Given the description of an element on the screen output the (x, y) to click on. 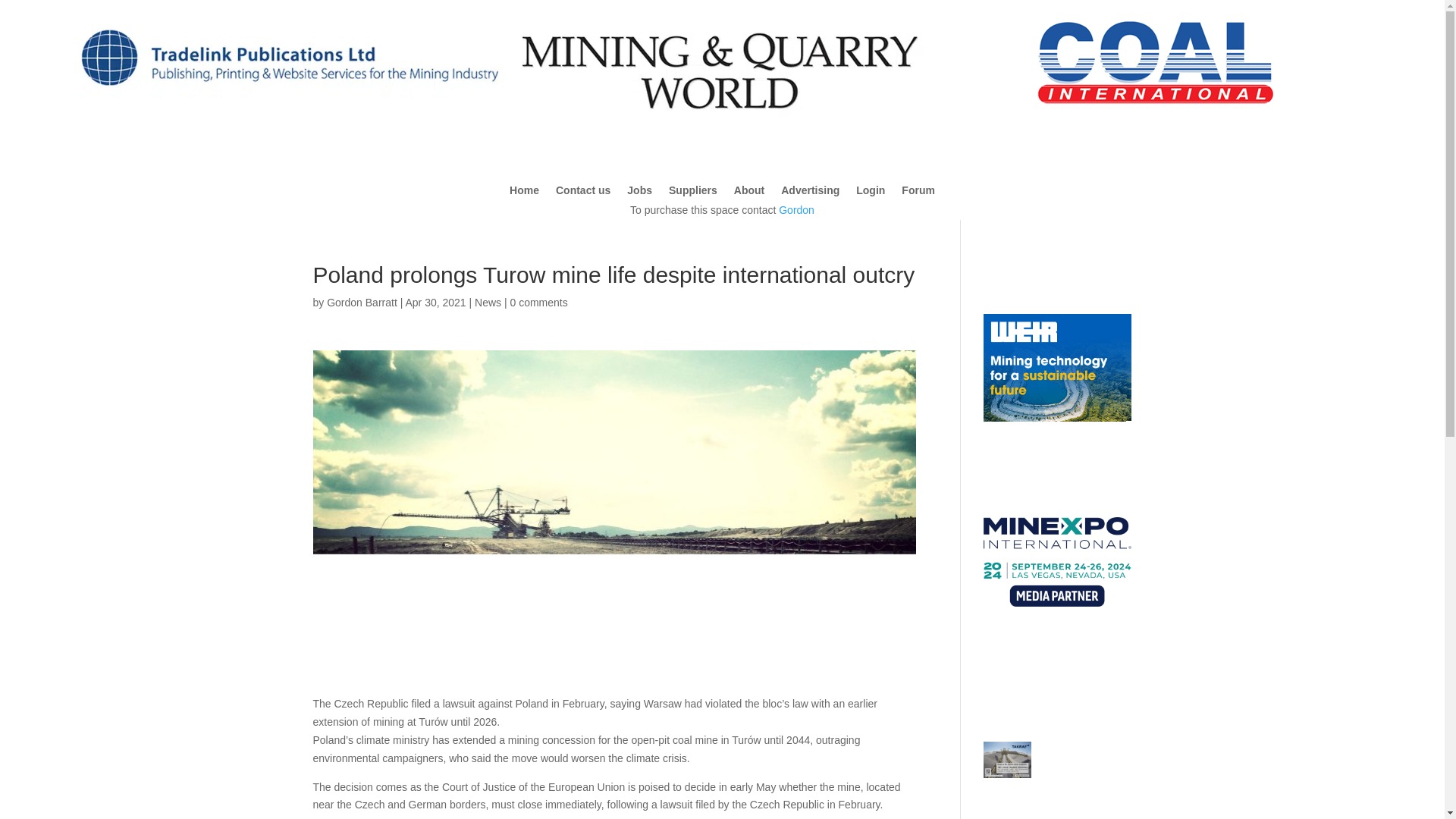
Advertising (810, 193)
About (748, 193)
News (487, 302)
Forum (917, 193)
Gordon Barratt (361, 302)
Jobs (639, 193)
Contact us (583, 193)
Home (523, 193)
Gordon (795, 209)
Posts by Gordon Barratt (361, 302)
